Given the description of an element on the screen output the (x, y) to click on. 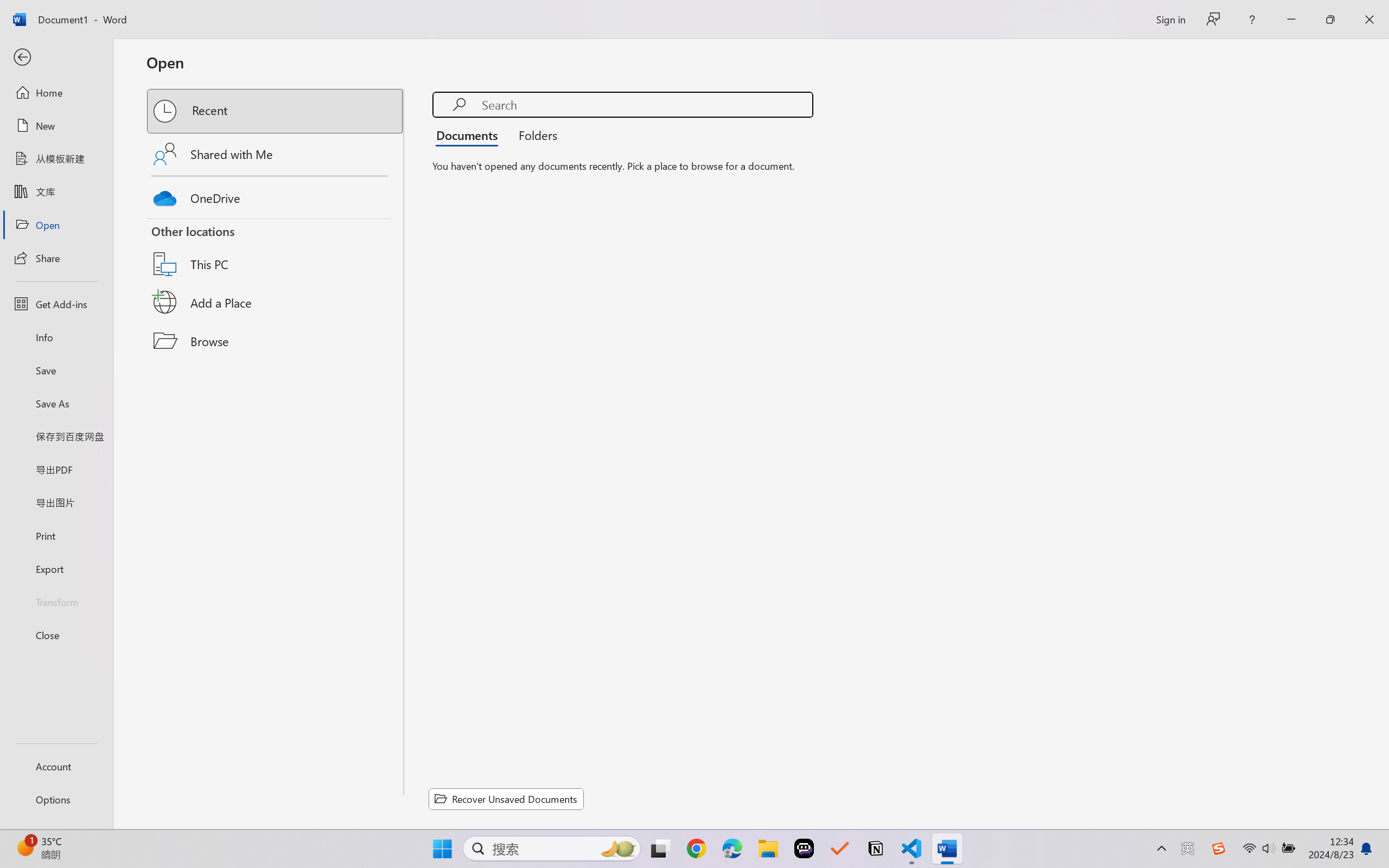
Back (56, 57)
OneDrive (275, 195)
Export (56, 568)
Documents (469, 134)
Browse (275, 340)
Shared with Me (275, 153)
Info (56, 337)
